Given the description of an element on the screen output the (x, y) to click on. 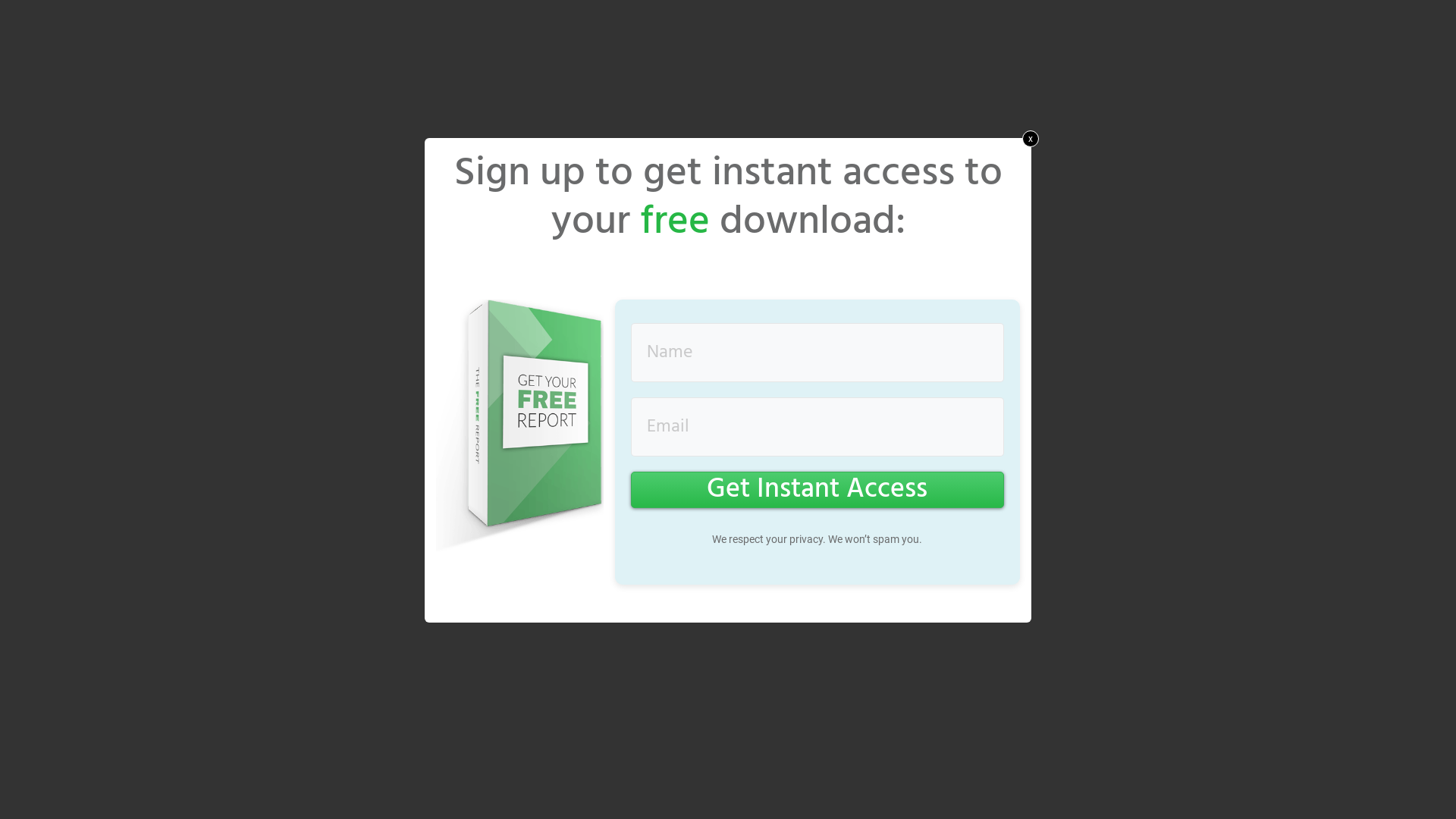
x Element type: text (1030, 138)
mini-squeeze2-product Element type: hover (519, 428)
Get Instant Access Element type: text (817, 489)
